Given the description of an element on the screen output the (x, y) to click on. 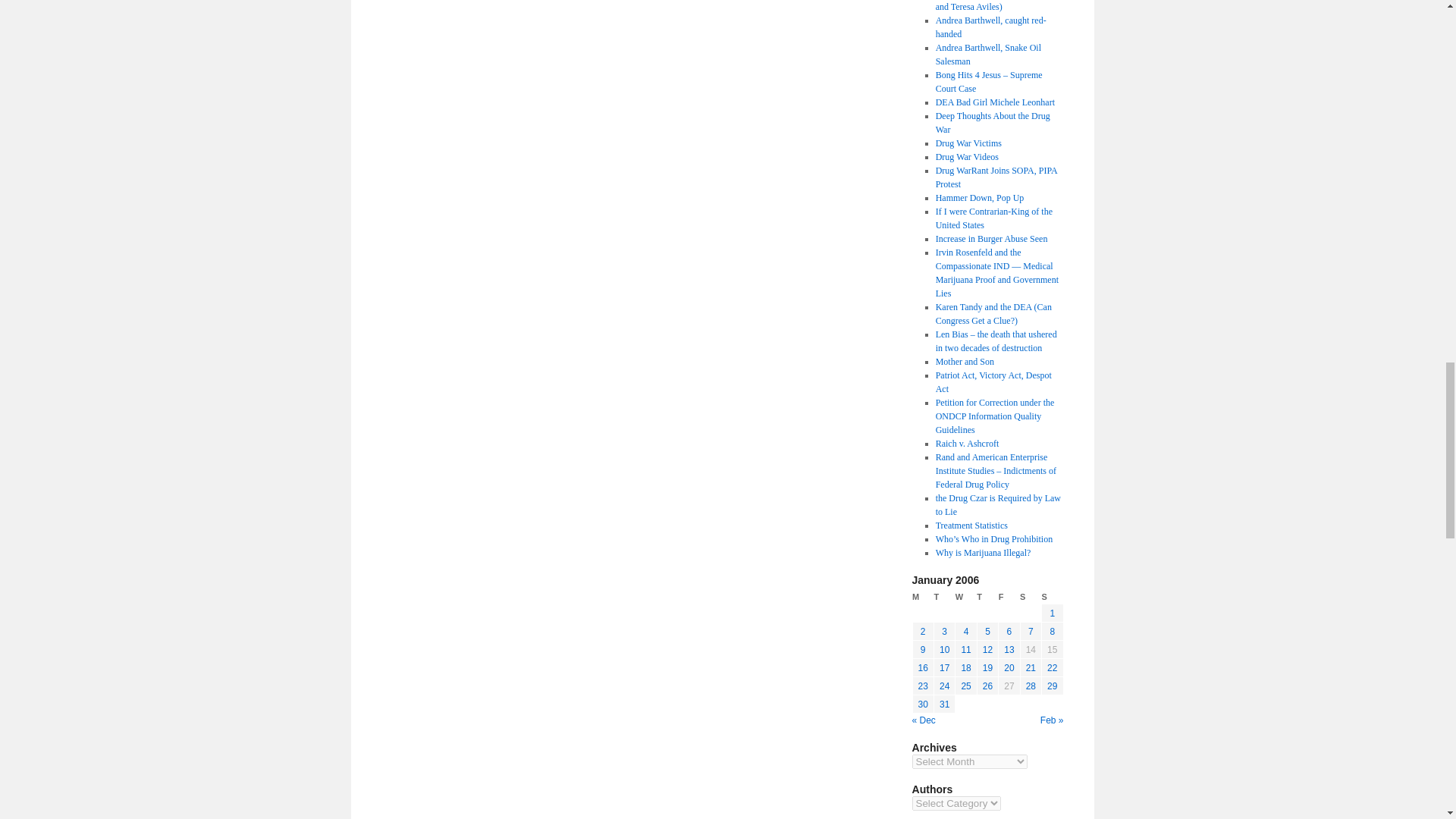
Monday (922, 596)
Wednesday (965, 596)
Saturday (1030, 596)
Tuesday (944, 596)
Sunday (1052, 596)
Thursday (986, 596)
Friday (1009, 596)
